Given the description of an element on the screen output the (x, y) to click on. 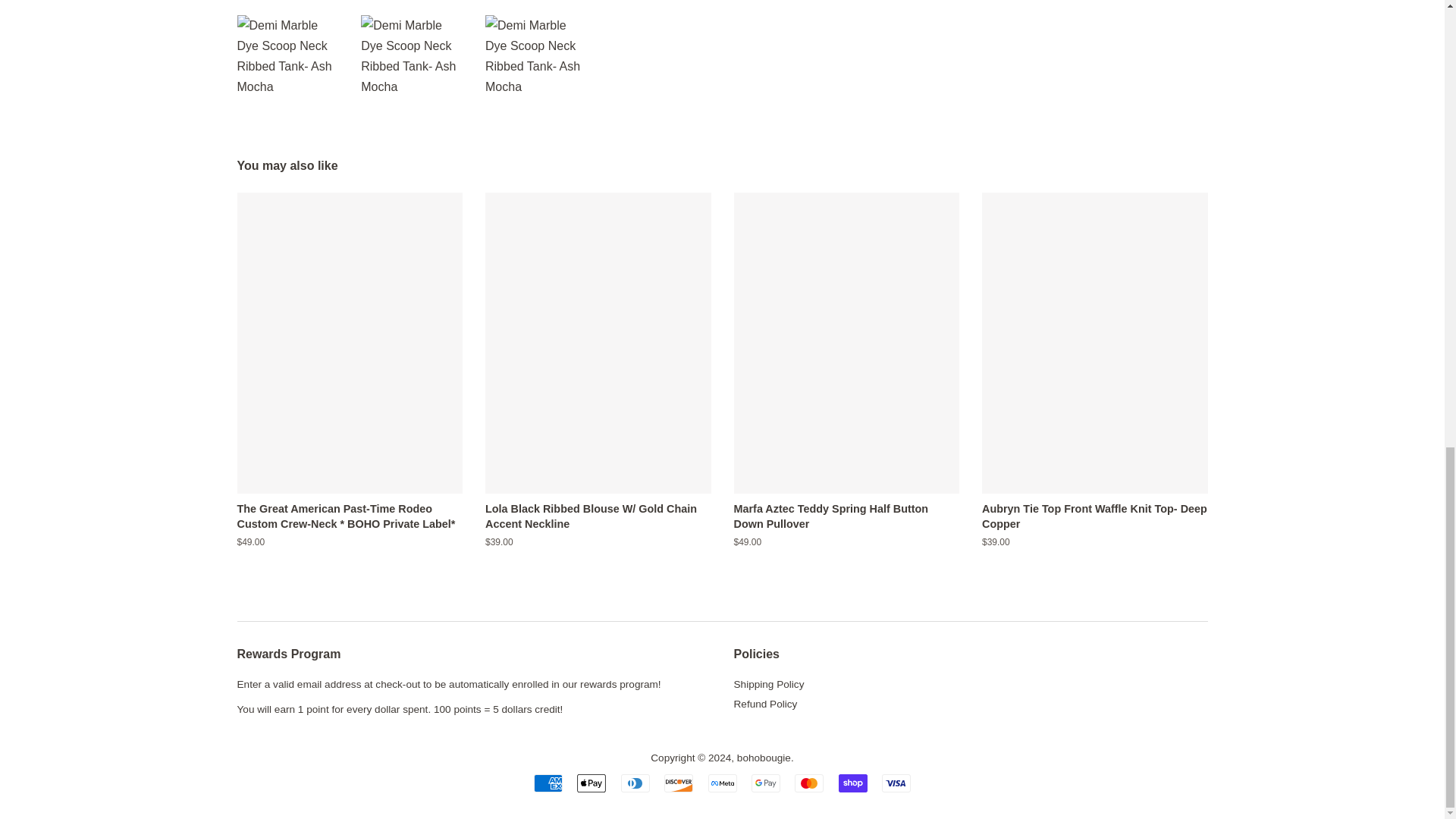
Mastercard (809, 782)
Google Pay (765, 782)
Apple Pay (590, 782)
Visa (896, 782)
American Express (548, 782)
Diners Club (635, 782)
Shop Pay (852, 782)
Meta Pay (721, 782)
Discover (678, 782)
